Given the description of an element on the screen output the (x, y) to click on. 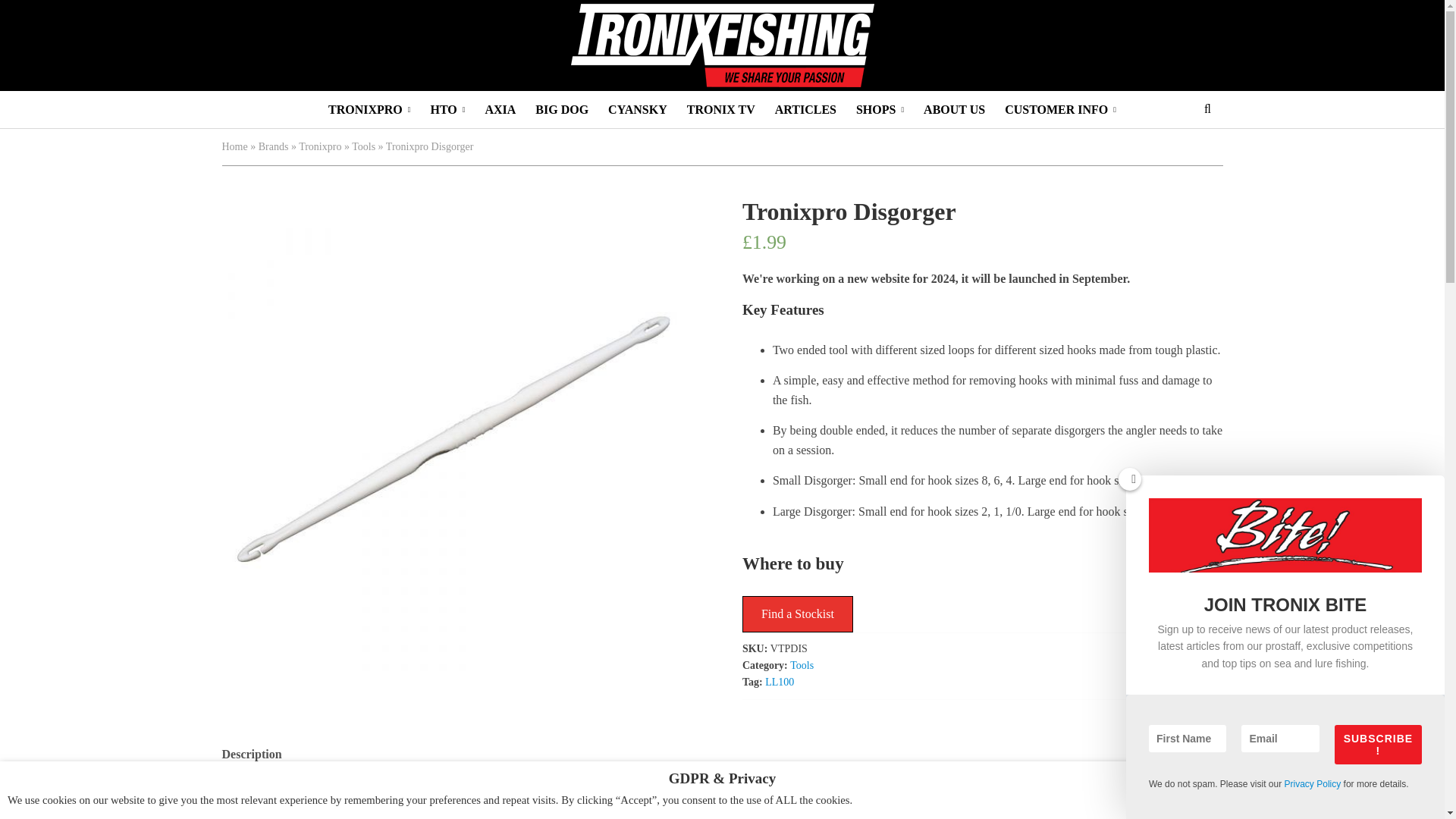
TRONIX TV (721, 109)
ARTICLES (805, 109)
SHOPS (879, 109)
TRONIXPRO (369, 109)
CUSTOMER INFO (1059, 109)
HTO (447, 109)
BIG DOG (561, 109)
CYANSKY (637, 109)
ABOUT US (954, 109)
AXIA (499, 109)
